Given the description of an element on the screen output the (x, y) to click on. 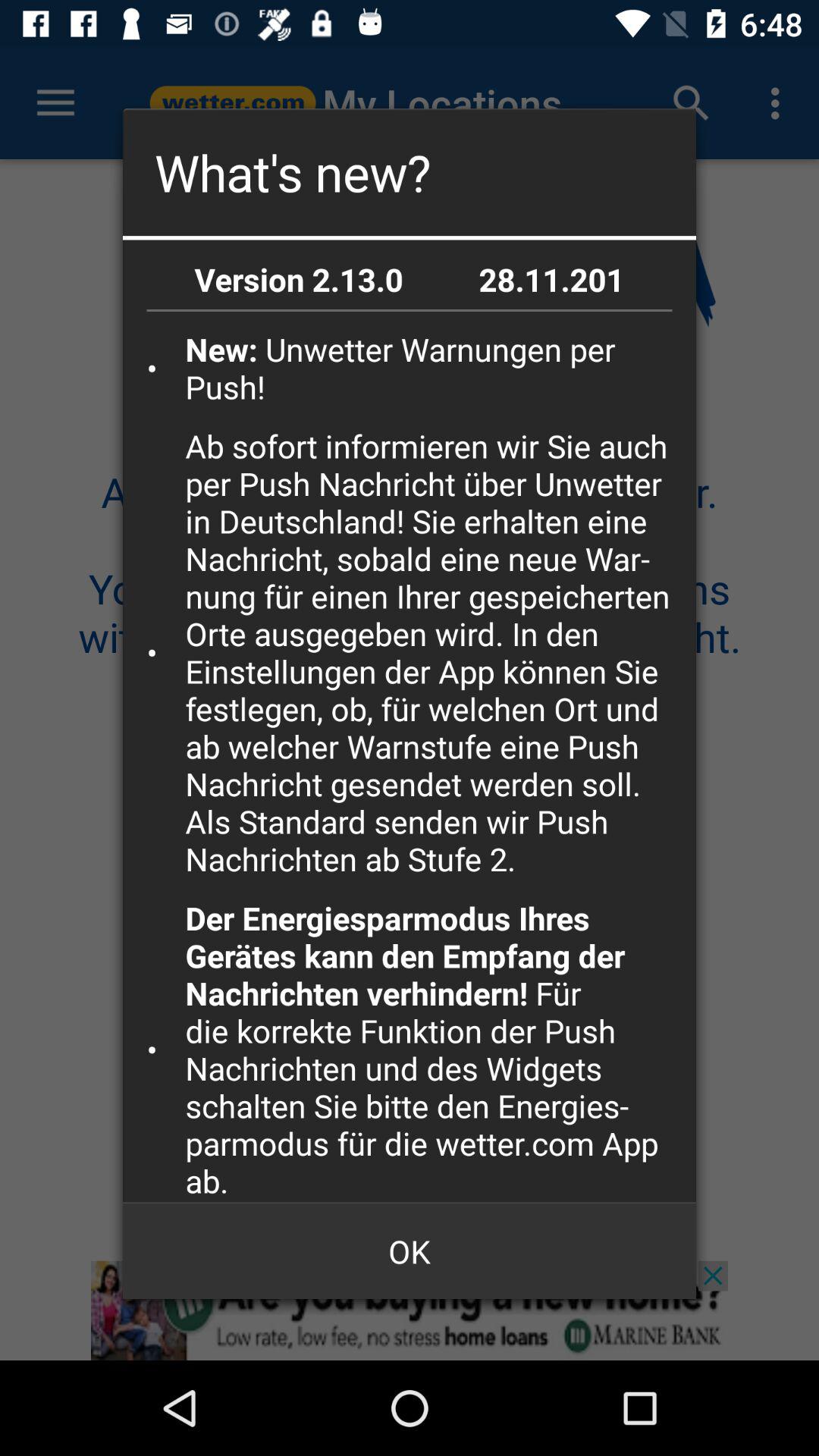
launch item below the ab sofort informieren item (435, 1049)
